Given the description of an element on the screen output the (x, y) to click on. 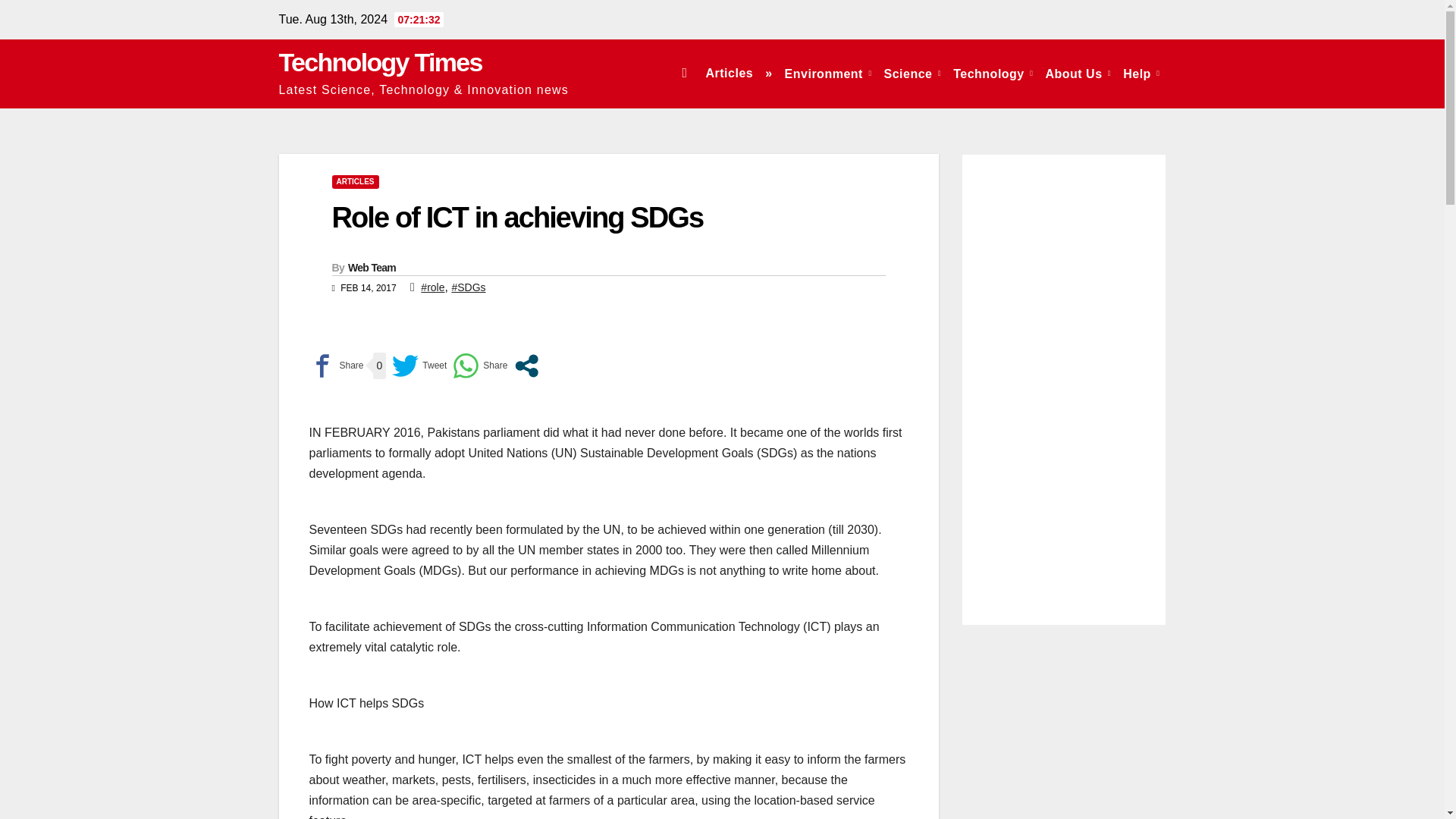
Environment (827, 73)
About Us (1077, 73)
Science (912, 73)
Technology (993, 73)
Science (912, 73)
Technology Times (380, 61)
Environment (827, 73)
Technology (993, 73)
